Given the description of an element on the screen output the (x, y) to click on. 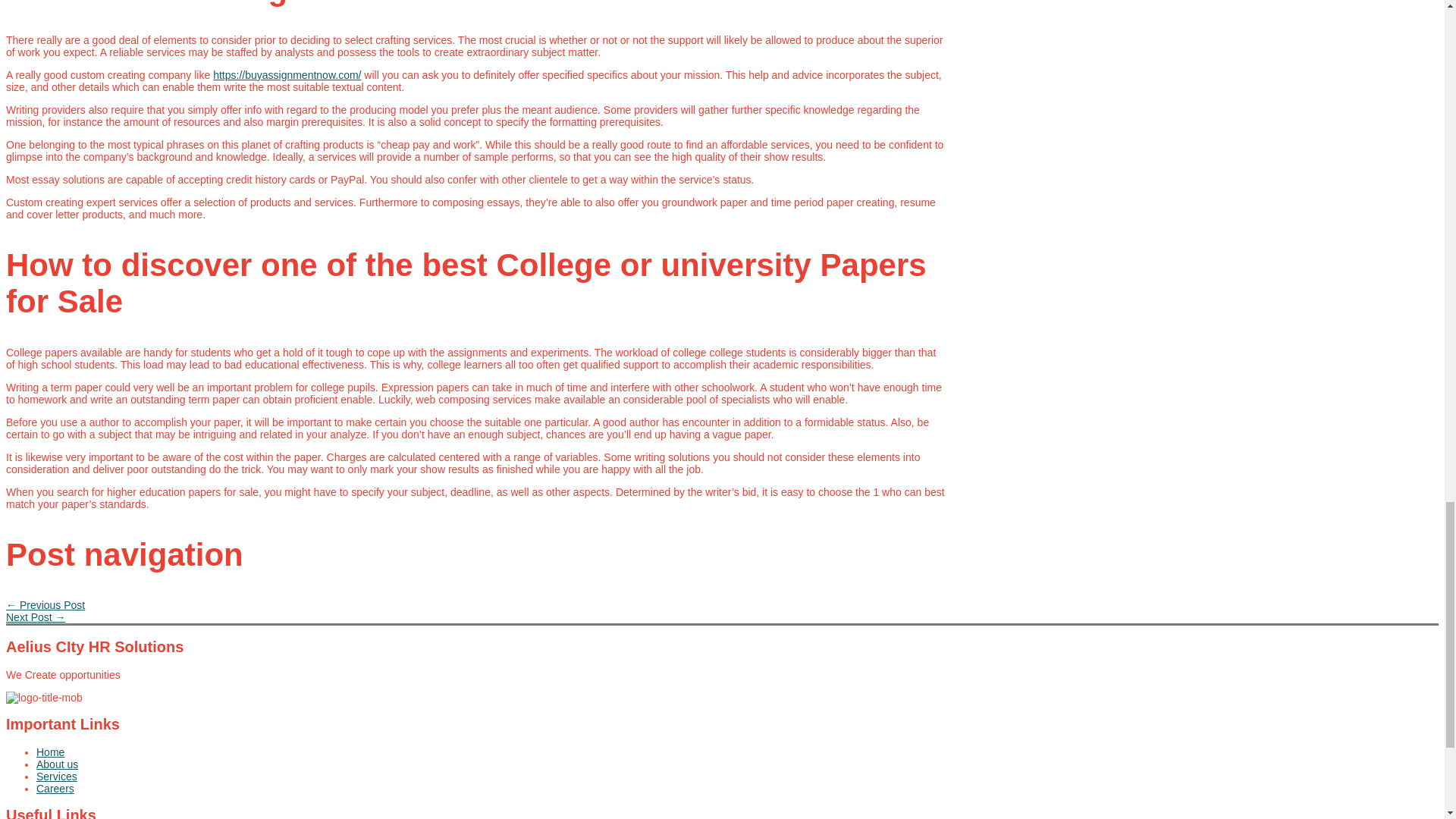
About us (491, 764)
Home (491, 752)
Services (491, 776)
Careers (491, 788)
